Given the description of an element on the screen output the (x, y) to click on. 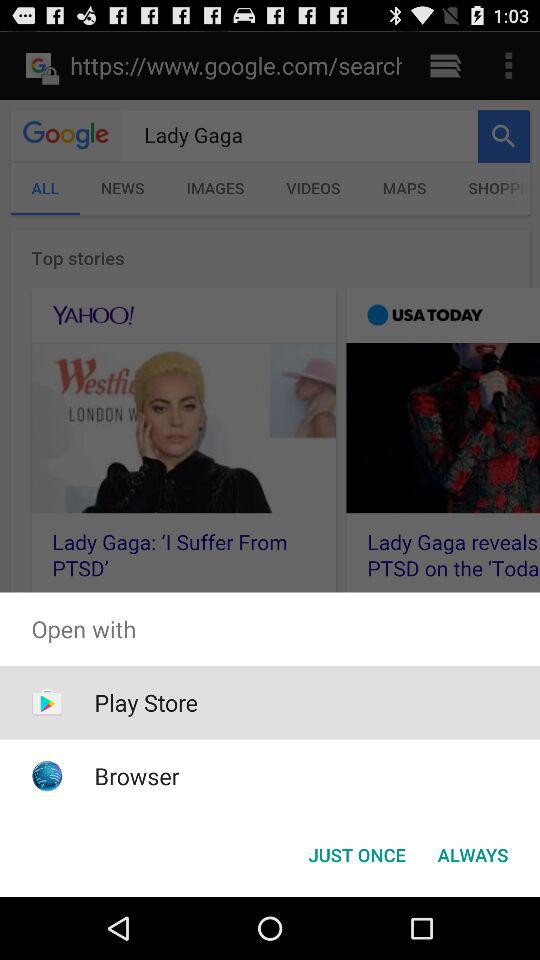
open icon above browser (146, 702)
